Given the description of an element on the screen output the (x, y) to click on. 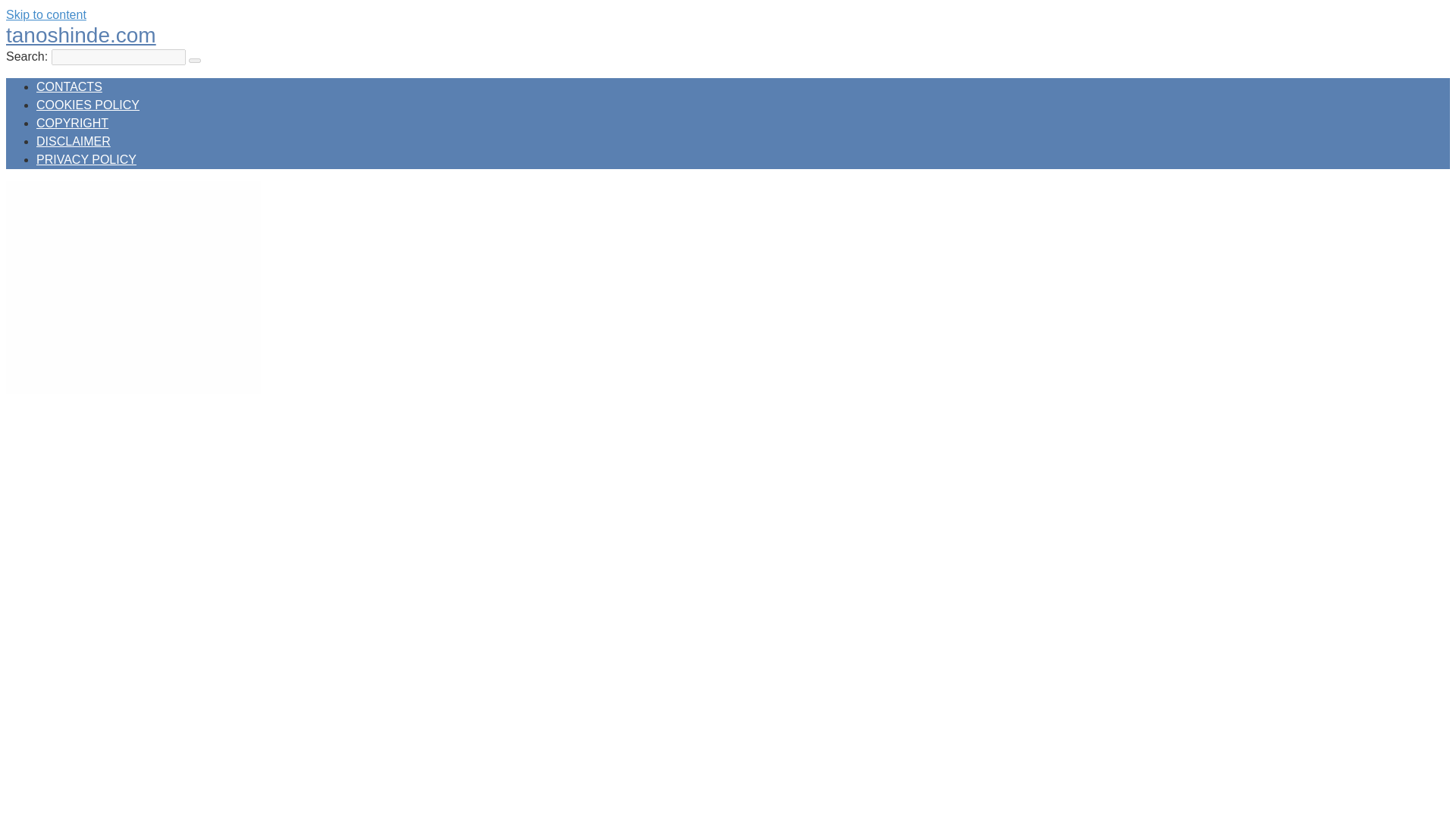
CONTACTS (68, 86)
COOKIES POLICY (87, 104)
DISCLAIMER (73, 141)
tanoshinde.com (80, 34)
PRIVACY POLICY (86, 159)
COPYRIGHT (71, 123)
Skip to content (45, 14)
